Given the description of an element on the screen output the (x, y) to click on. 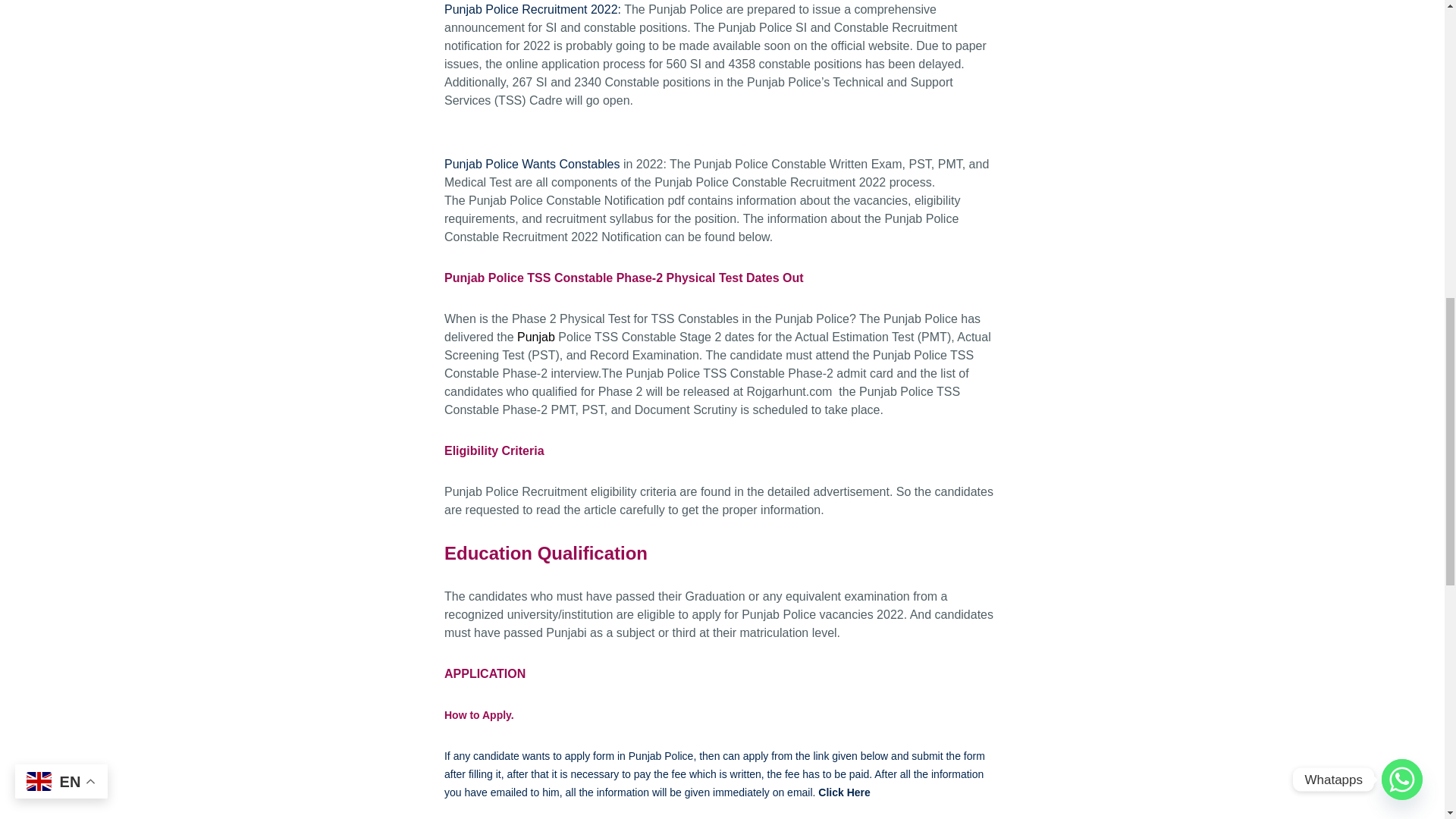
Punjab (535, 336)
Punjab Police Wants Constables (532, 164)
Click Here (843, 792)
How to Apply.  (480, 715)
Punjab Police Recruitment 2022: (532, 9)
